Given the description of an element on the screen output the (x, y) to click on. 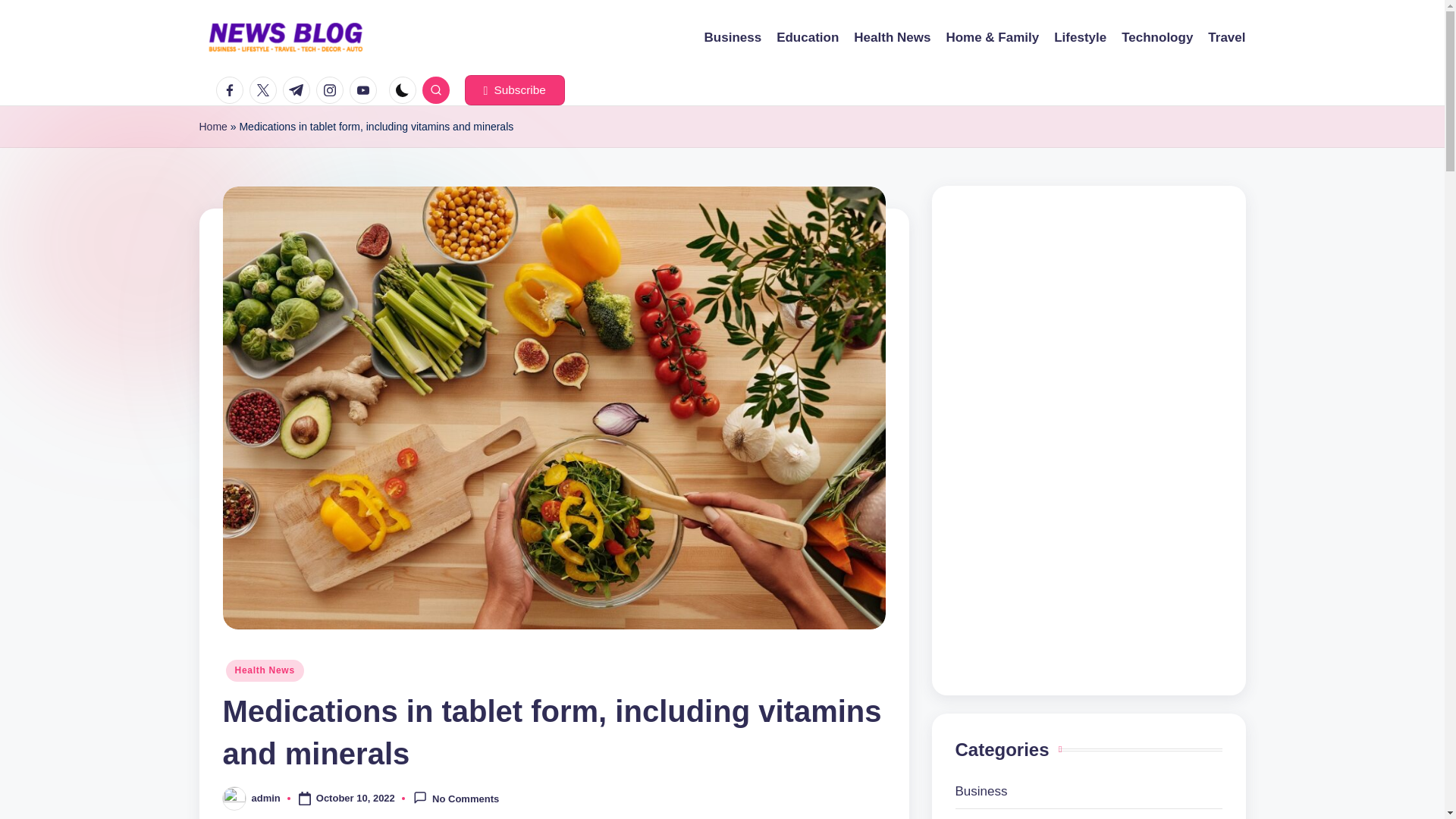
youtube.com (365, 90)
Health News (264, 670)
Business (1089, 791)
t.me (298, 90)
facebook.com (231, 90)
Lifestyle (1080, 37)
Home (212, 126)
admin (266, 797)
Subscribe (514, 90)
View all posts by admin (266, 797)
